Given the description of an element on the screen output the (x, y) to click on. 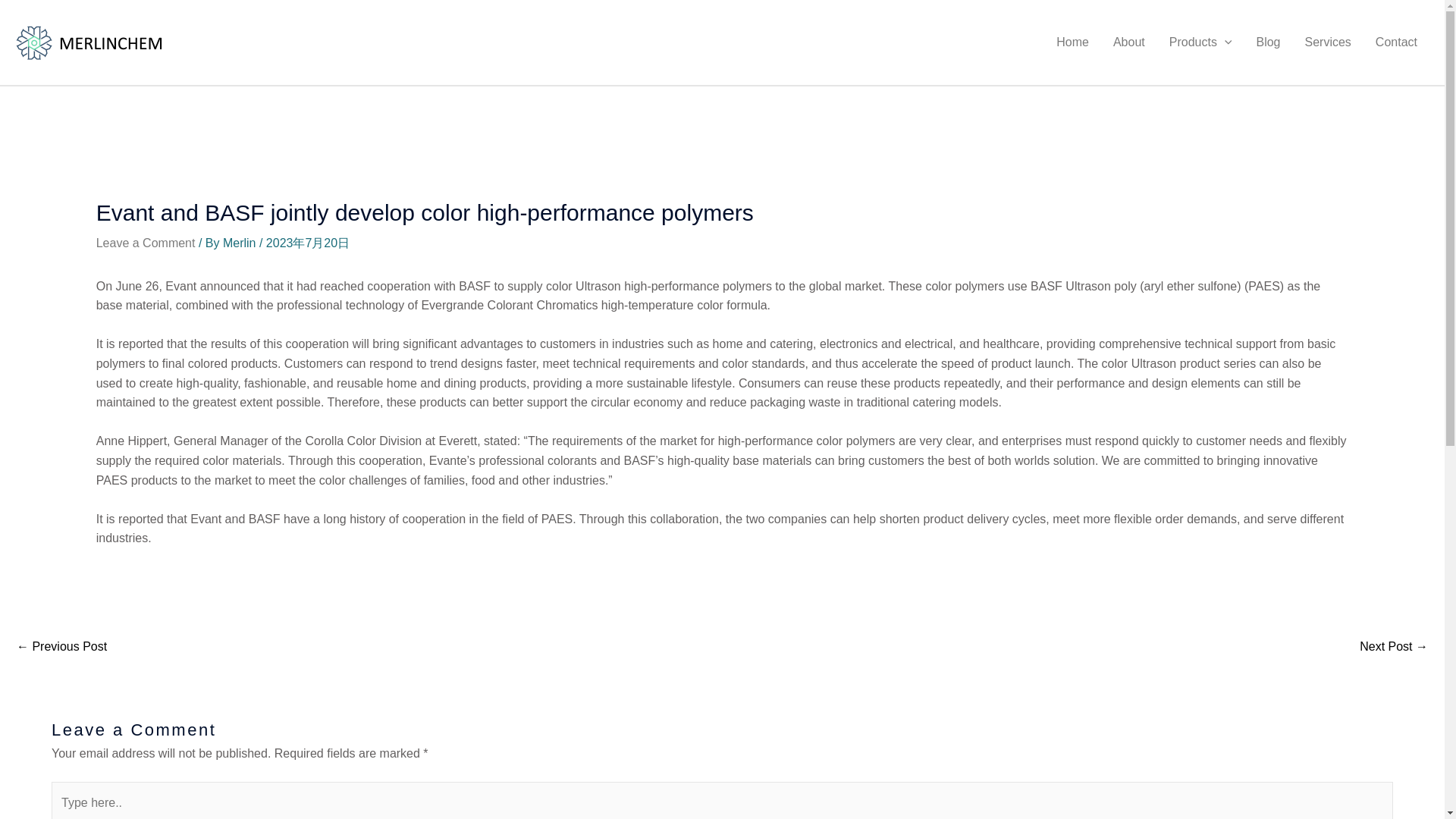
Leave a Comment (145, 242)
View all posts by Merlin (240, 242)
Services (1327, 42)
About (1128, 42)
Products (1200, 42)
Contact (1395, 42)
Merlin (240, 242)
Home (1071, 42)
